Given the description of an element on the screen output the (x, y) to click on. 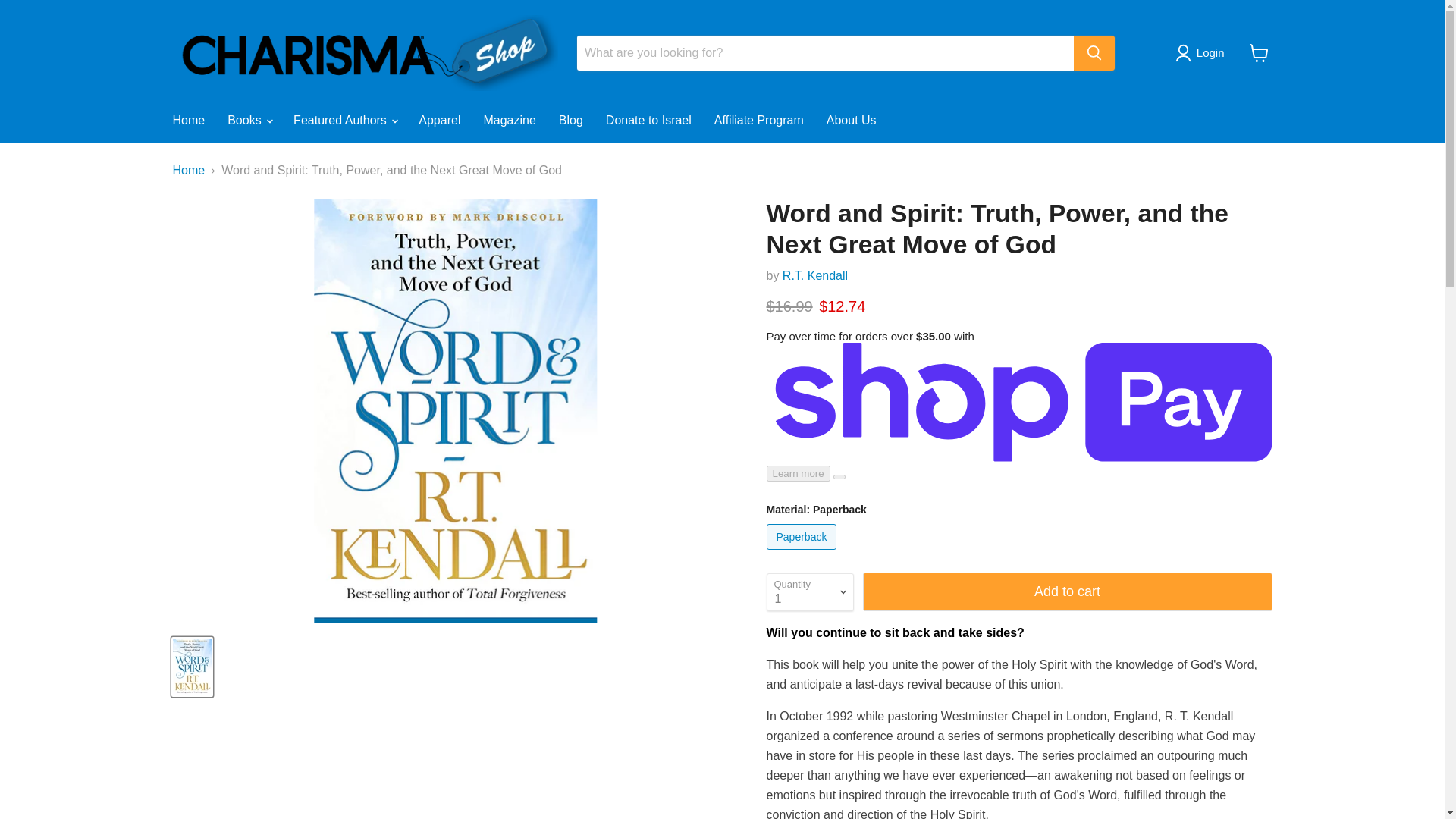
R.T. Kendall (815, 275)
Home (187, 120)
Login (1210, 53)
View cart (1258, 52)
